Given the description of an element on the screen output the (x, y) to click on. 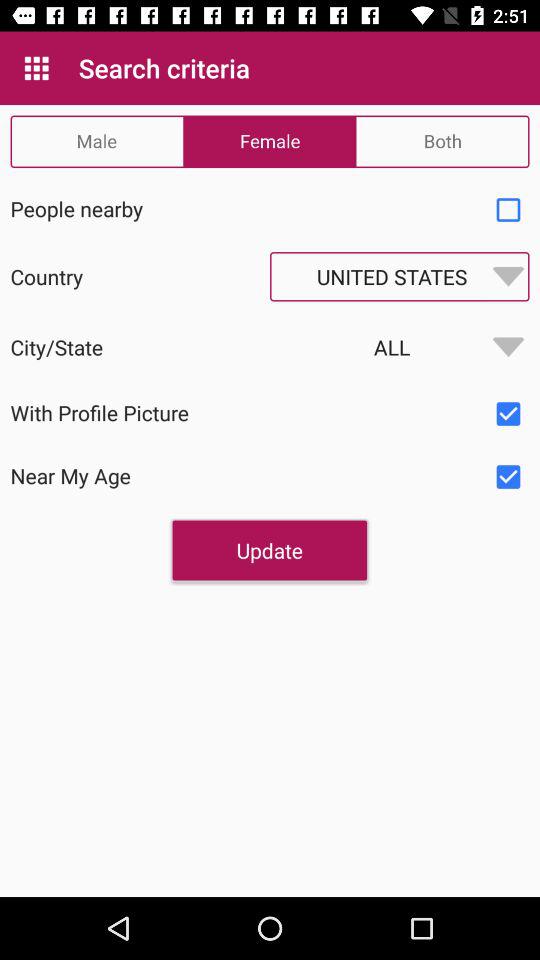
find people nearby (508, 210)
